Given the description of an element on the screen output the (x, y) to click on. 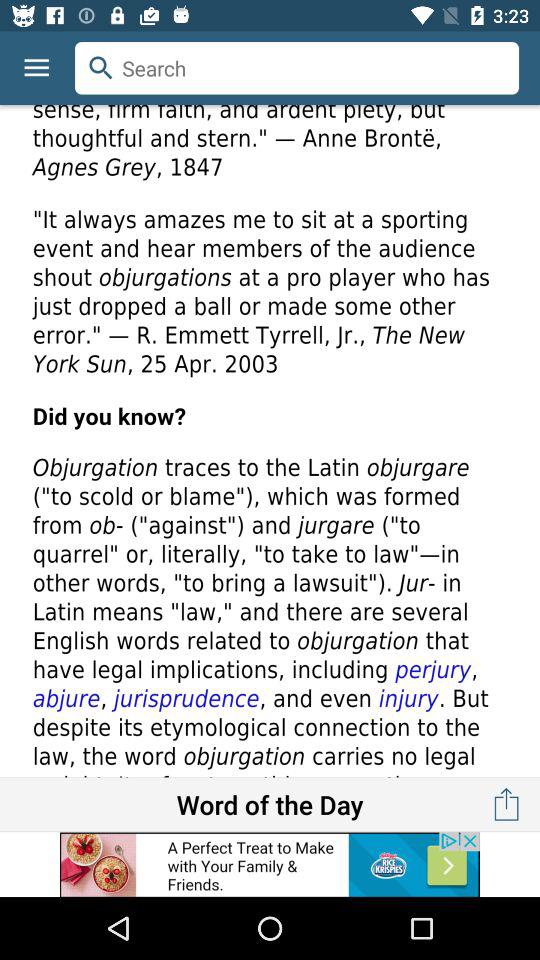
advantisment paga (270, 864)
